Given the description of an element on the screen output the (x, y) to click on. 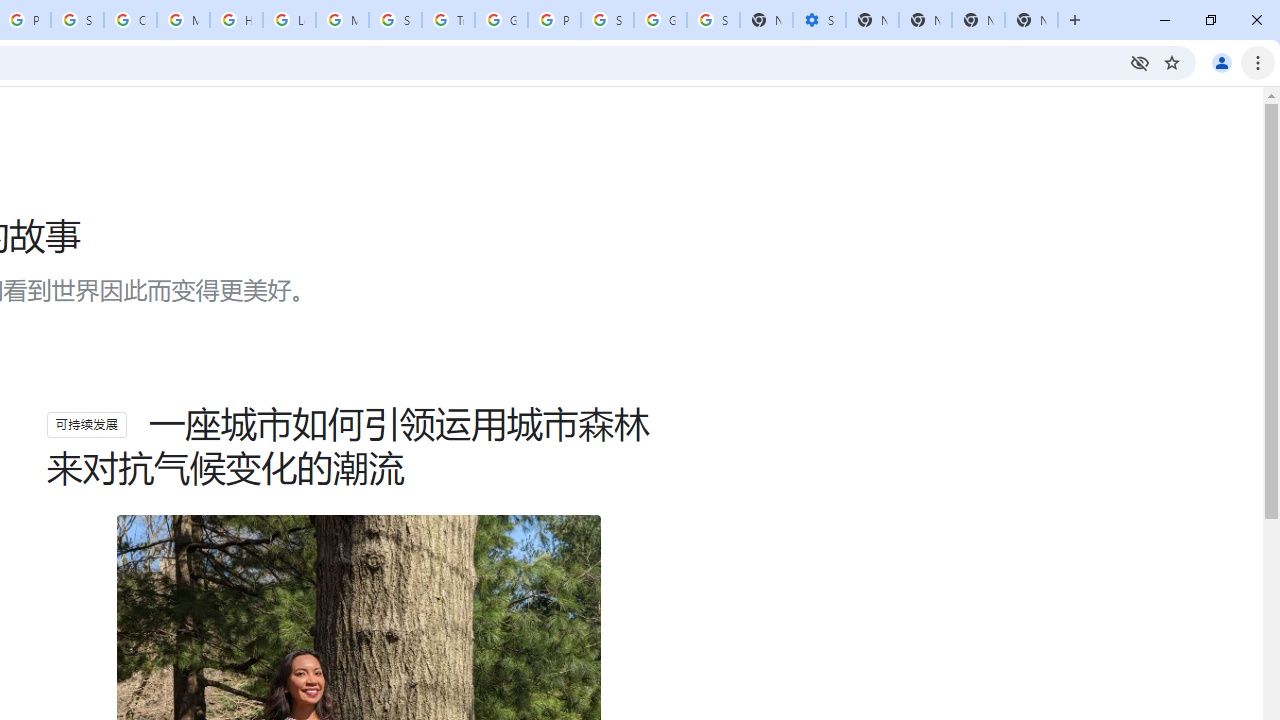
Sign in - Google Accounts (713, 20)
Sign in - Google Accounts (77, 20)
New Tab (1031, 20)
Google Ads - Sign in (501, 20)
Search our Doodle Library Collection - Google Doodles (395, 20)
Settings - Performance (819, 20)
Google Cybersecurity Innovations - Google Safety Center (660, 20)
